Given the description of an element on the screen output the (x, y) to click on. 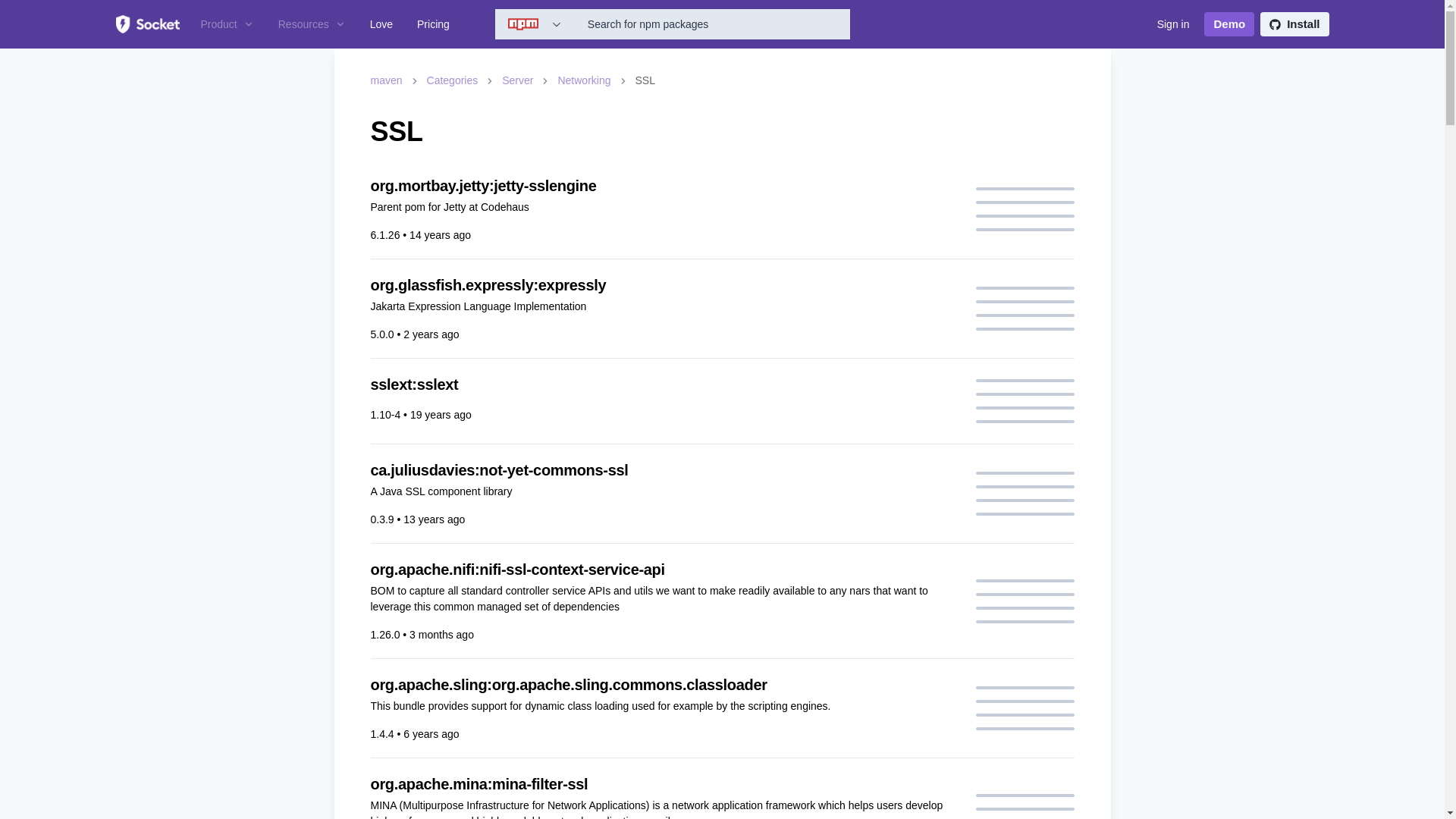
Categories (452, 80)
Sign in (1173, 24)
maven (385, 80)
Demo (1228, 24)
Networking (583, 80)
org.apache.nifi:nifi-ssl-context-service-api (662, 568)
sslext:sslext (662, 383)
Resources (312, 24)
org.glassfish.expressly:expressly (662, 284)
org.apache.sling:org.apache.sling.commons.classloader (662, 684)
